Given the description of an element on the screen output the (x, y) to click on. 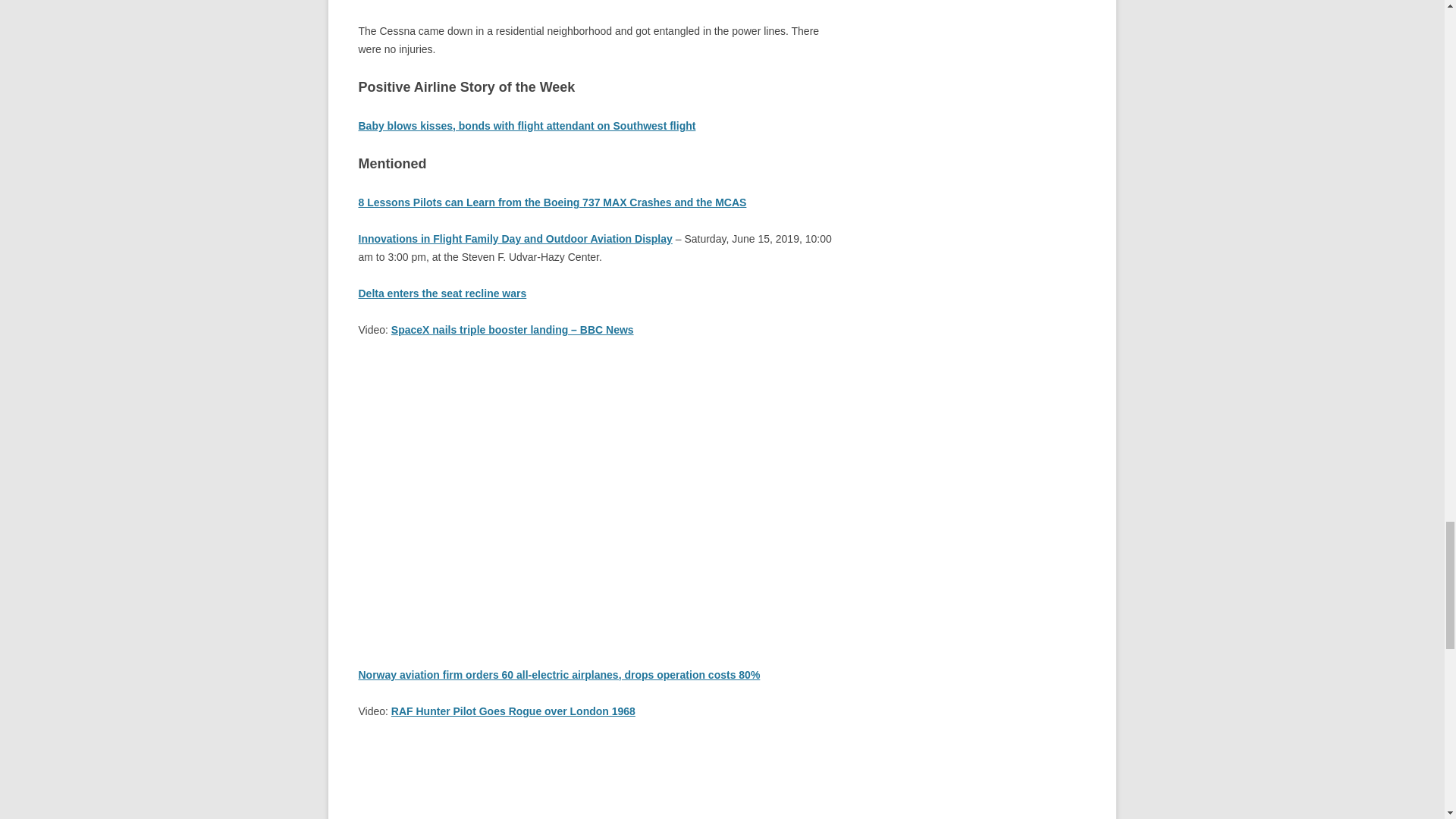
RAF Hunter Pilot Goes Rogue over London 1968 (512, 711)
Delta enters the seat recline wars (441, 293)
RAF Hunter Pilot Goes Rogue over London 1968 (594, 778)
SpaceX nails triple booster landing - BBC News (594, 490)
